Given the description of an element on the screen output the (x, y) to click on. 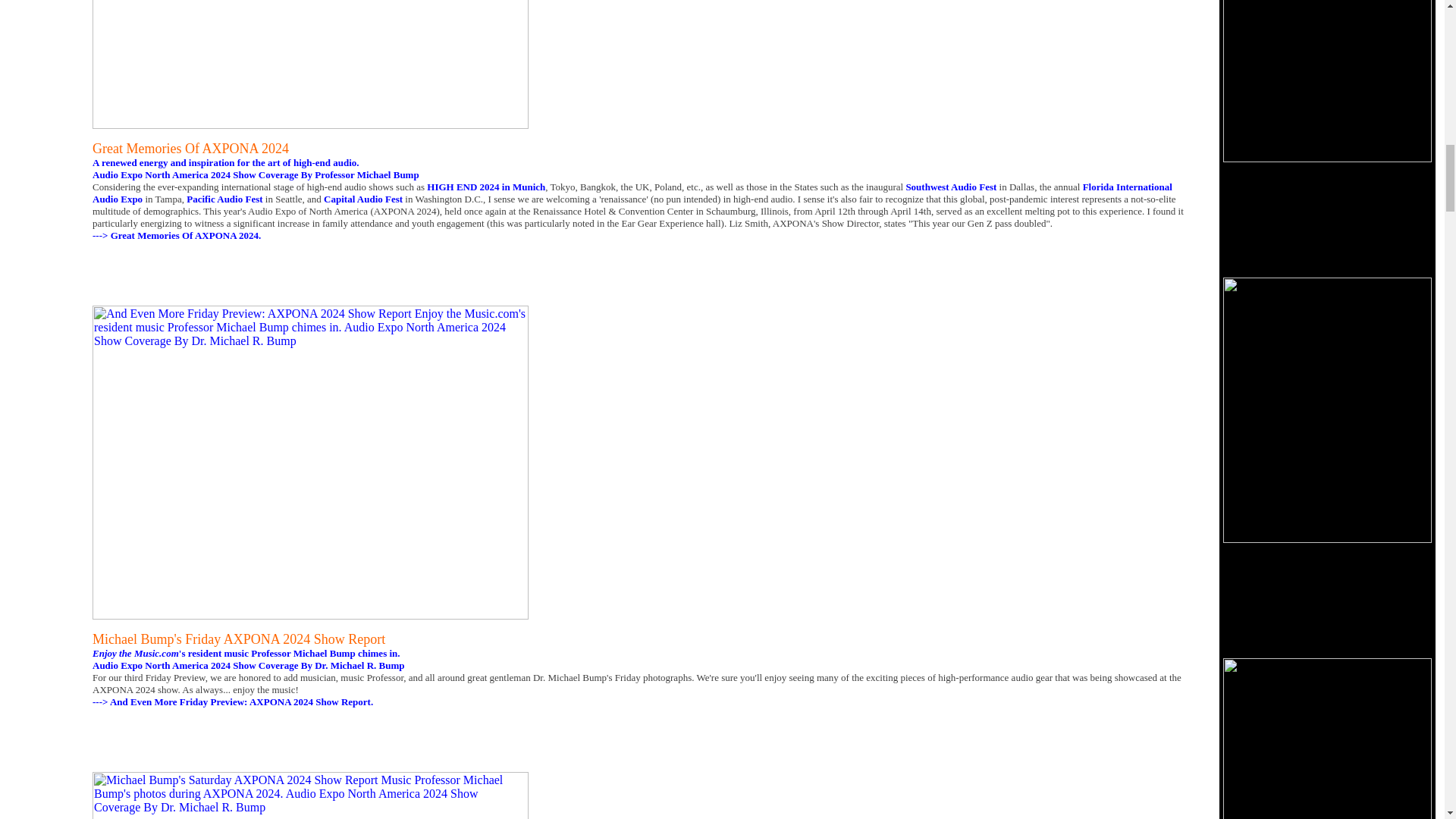
HIGH END 2024 in Munich (485, 186)
Florida International Audio Expo (632, 192)
Capital Audio Fest (363, 198)
Pacific Audio Fest (224, 198)
Southwest Audio Fest (950, 186)
